Given the description of an element on the screen output the (x, y) to click on. 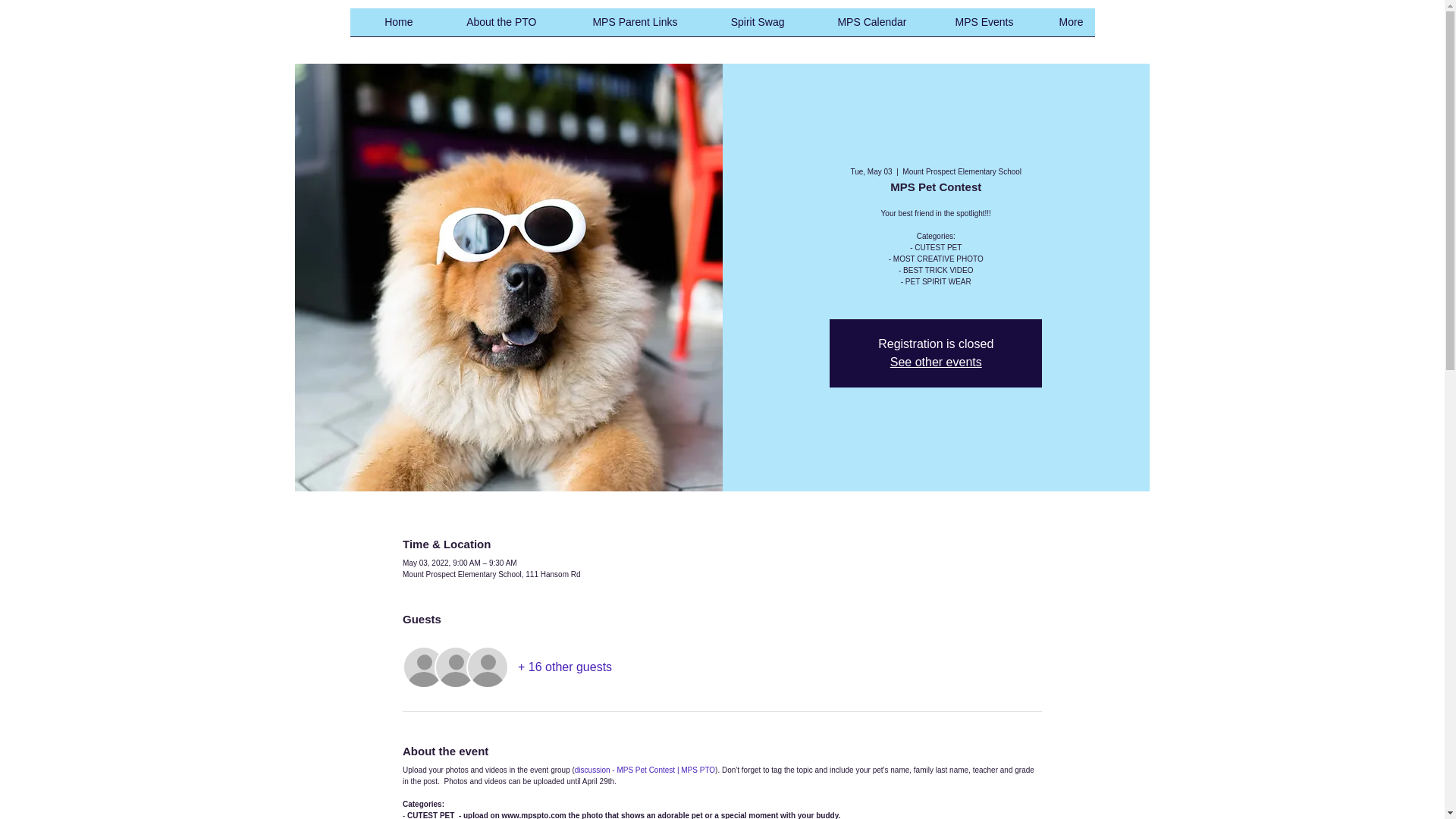
MPS Parent Links (617, 26)
Spirit Swag (741, 26)
See other events (935, 361)
About the PTO (486, 26)
MPS Calendar (857, 26)
Home (387, 26)
